Given the description of an element on the screen output the (x, y) to click on. 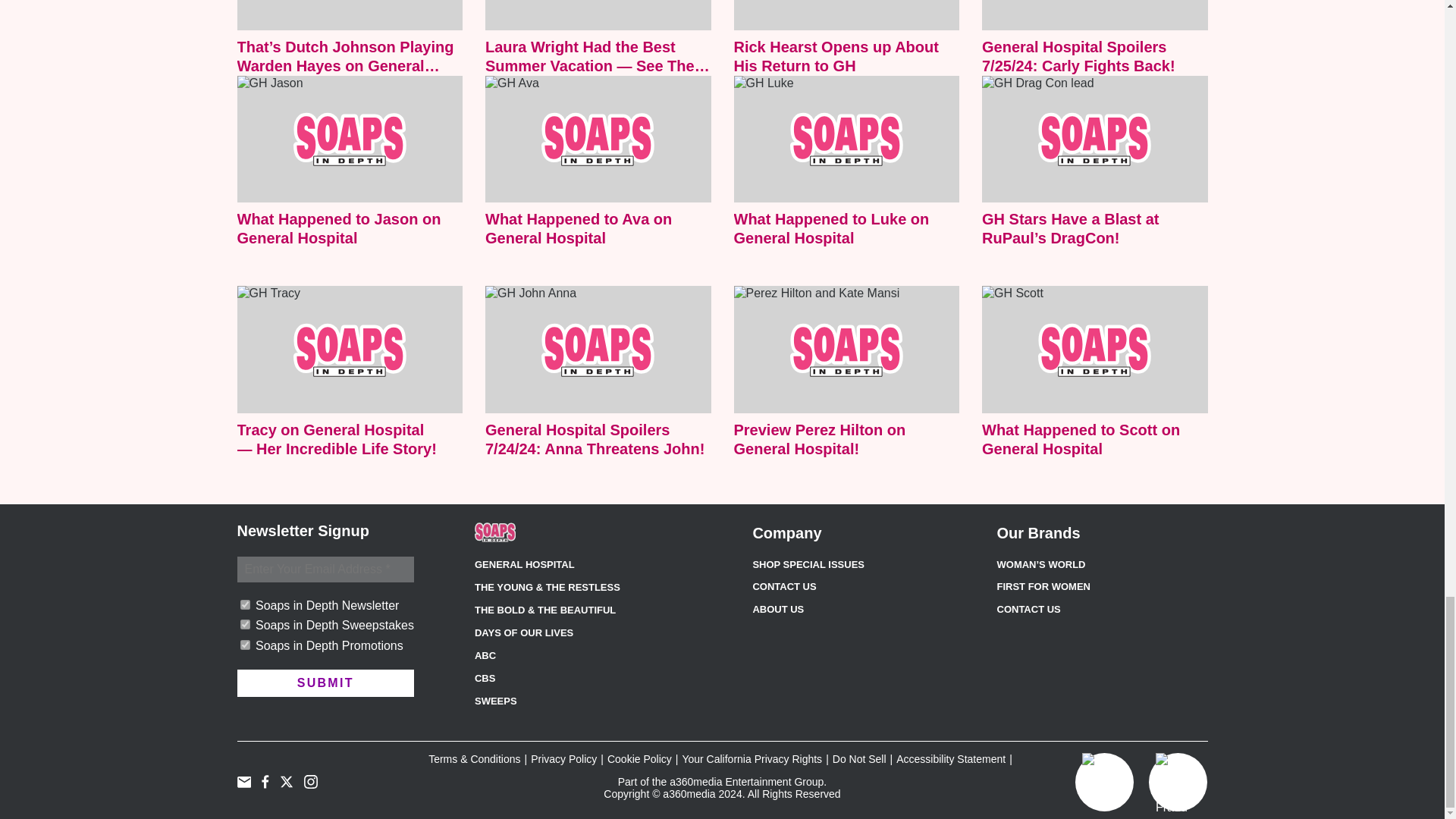
1 (244, 604)
1 (244, 624)
1 (244, 644)
